Given the description of an element on the screen output the (x, y) to click on. 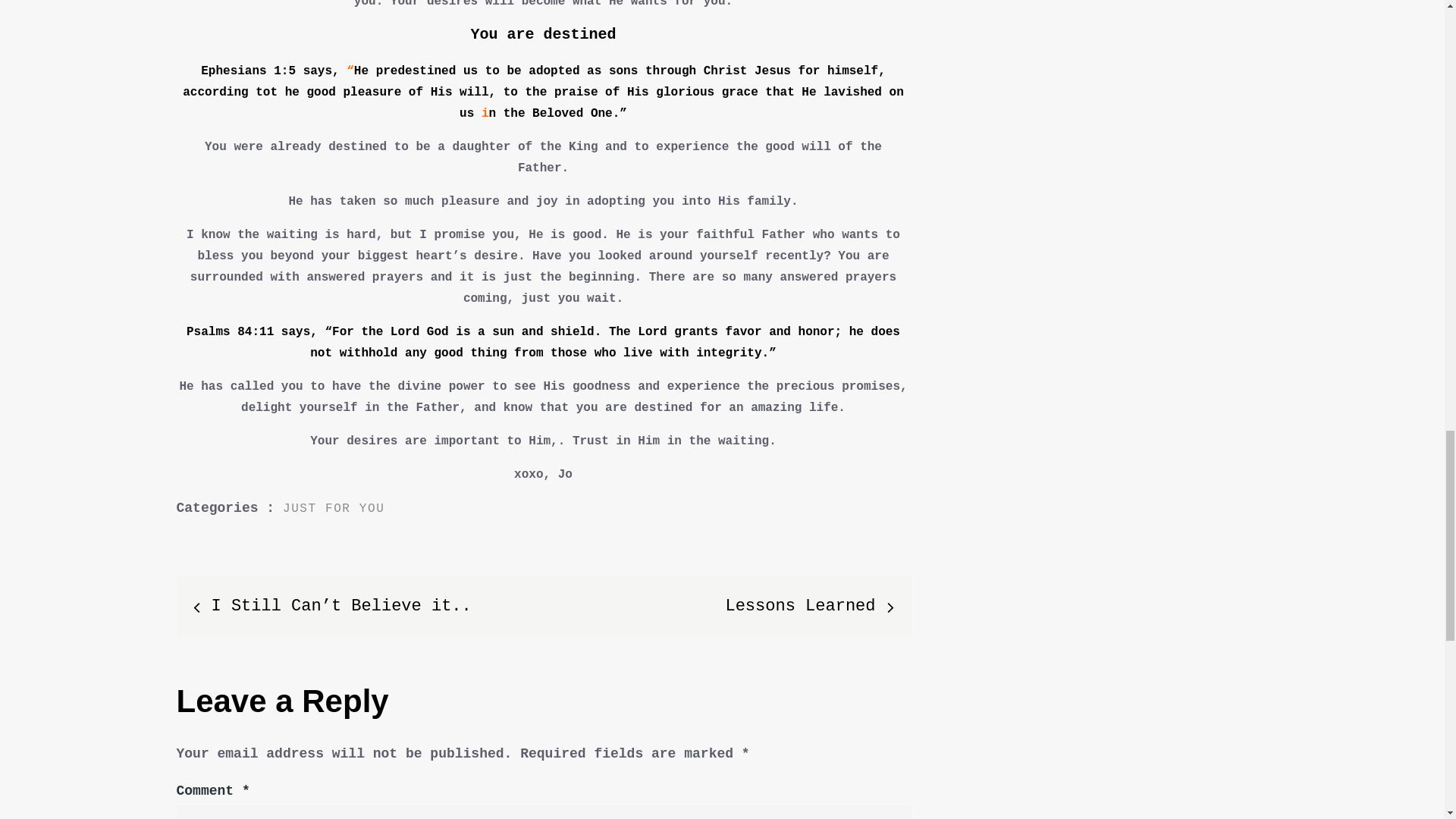
JUST FOR YOU (333, 508)
